Given the description of an element on the screen output the (x, y) to click on. 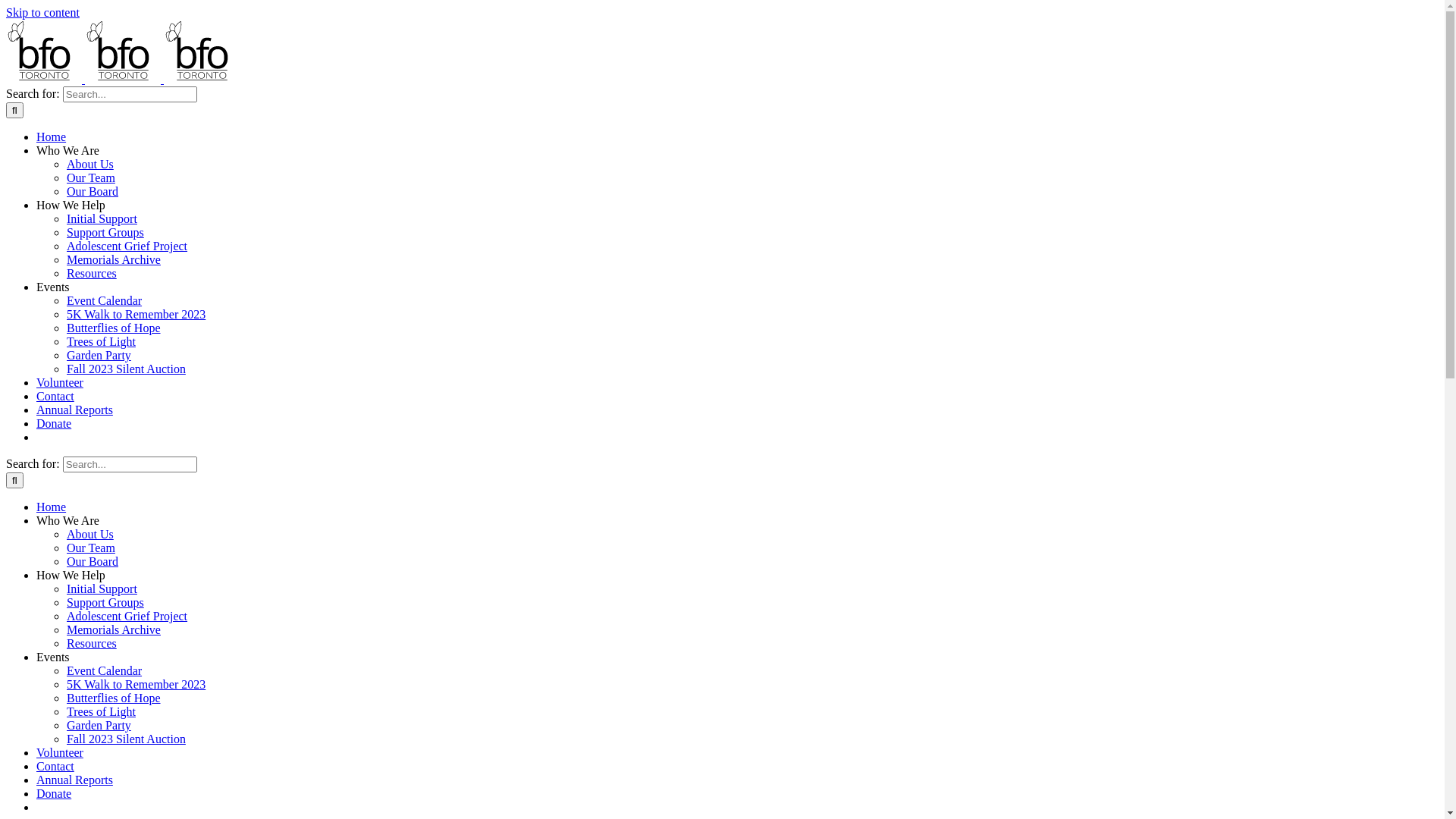
Resources Element type: text (91, 272)
Memorials Archive Element type: text (113, 259)
Trees of Light Element type: text (100, 711)
About Us Element type: text (89, 163)
5K Walk to Remember 2023 Element type: text (135, 683)
Annual Reports Element type: text (74, 779)
How We Help Element type: text (70, 204)
Donate Element type: text (53, 423)
Butterflies of Hope Element type: text (113, 327)
Adolescent Grief Project Element type: text (126, 615)
Fall 2023 Silent Auction Element type: text (125, 368)
Garden Party Element type: text (98, 354)
Event Calendar Element type: text (103, 670)
Volunteer Element type: text (59, 752)
Contact Element type: text (55, 765)
Butterflies of Hope Element type: text (113, 697)
Support Groups Element type: text (105, 602)
How We Help Element type: text (70, 574)
Home Element type: text (50, 136)
Garden Party Element type: text (98, 724)
Fall 2023 Silent Auction Element type: text (125, 738)
Adolescent Grief Project Element type: text (126, 245)
Who We Are Element type: text (67, 520)
Resources Element type: text (91, 643)
Memorials Archive Element type: text (113, 629)
Home Element type: text (50, 506)
Donate Element type: text (53, 793)
Our Board Element type: text (92, 191)
Support Groups Element type: text (105, 231)
Initial Support Element type: text (101, 218)
Our Team Element type: text (90, 547)
Events Element type: text (52, 286)
Our Board Element type: text (92, 561)
Contact Element type: text (55, 395)
Skip to content Element type: text (42, 12)
Trees of Light Element type: text (100, 341)
About Us Element type: text (89, 533)
Events Element type: text (52, 656)
Initial Support Element type: text (101, 588)
Who We Are Element type: text (67, 150)
Volunteer Element type: text (59, 382)
Our Team Element type: text (90, 177)
Event Calendar Element type: text (103, 300)
5K Walk to Remember 2023 Element type: text (135, 313)
Annual Reports Element type: text (74, 409)
